Given the description of an element on the screen output the (x, y) to click on. 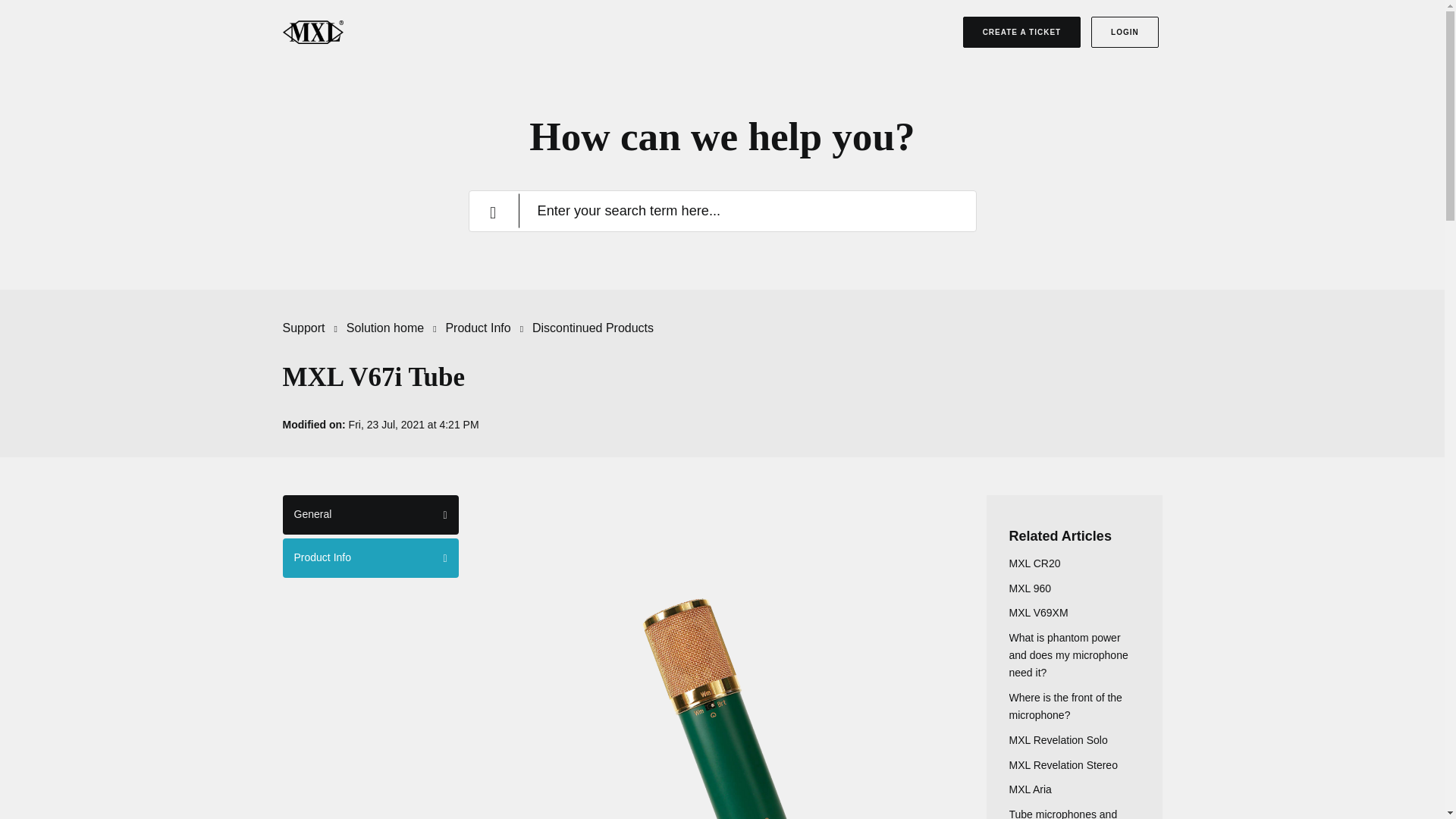
MXL Revelation Stereo (1062, 765)
General (370, 514)
Discontinued Products (592, 327)
LOGIN (1124, 32)
Where is the front of the microphone? (1065, 706)
MXL CR20 (1034, 563)
MXL Revelation Solo (1057, 739)
MXL V69XM (1038, 612)
Support (303, 327)
